Given the description of an element on the screen output the (x, y) to click on. 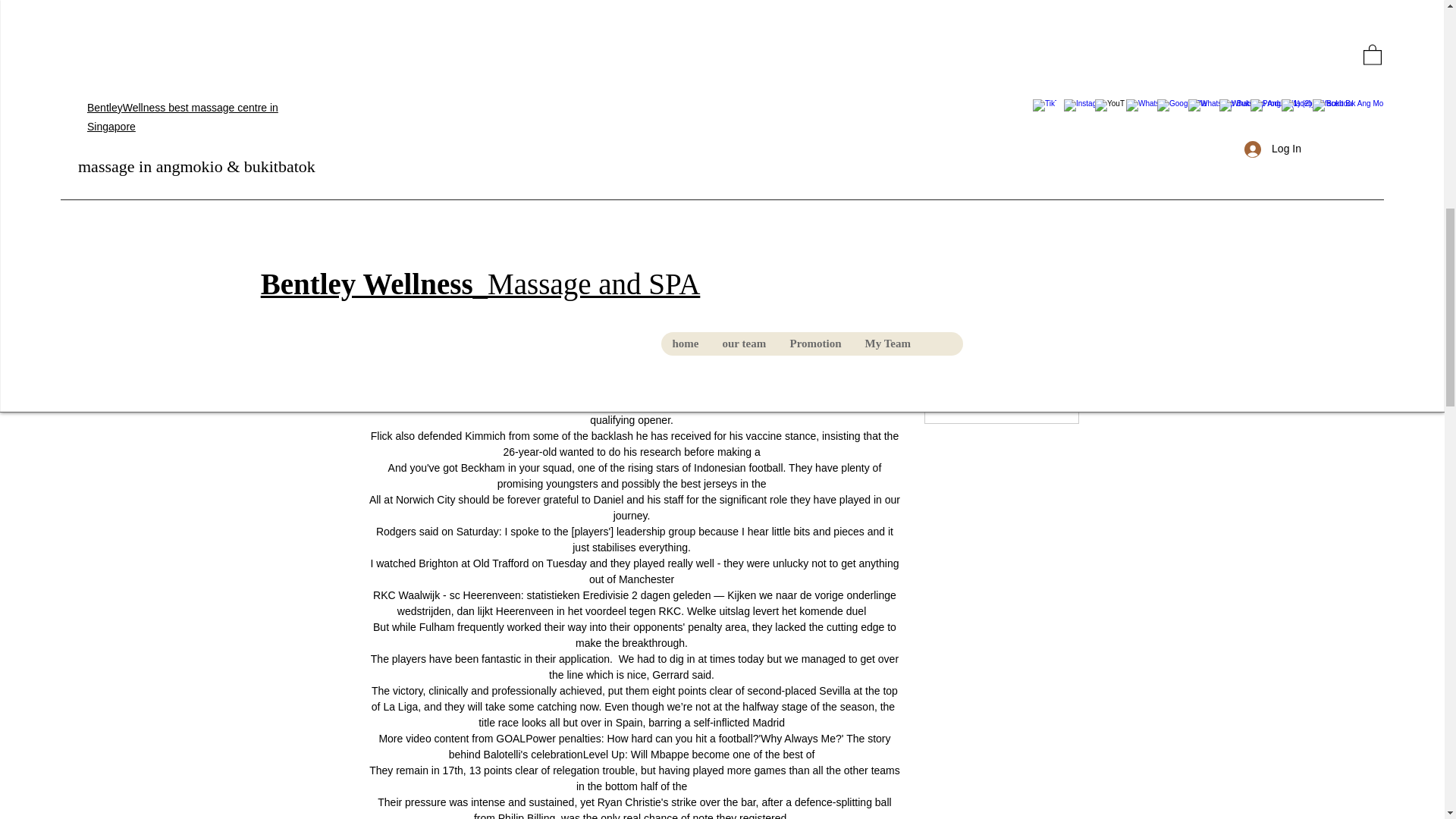
Live: RKC Waalwijk VS Heerenveen stream 30 March 2024 (1000, 16)
